Given the description of an element on the screen output the (x, y) to click on. 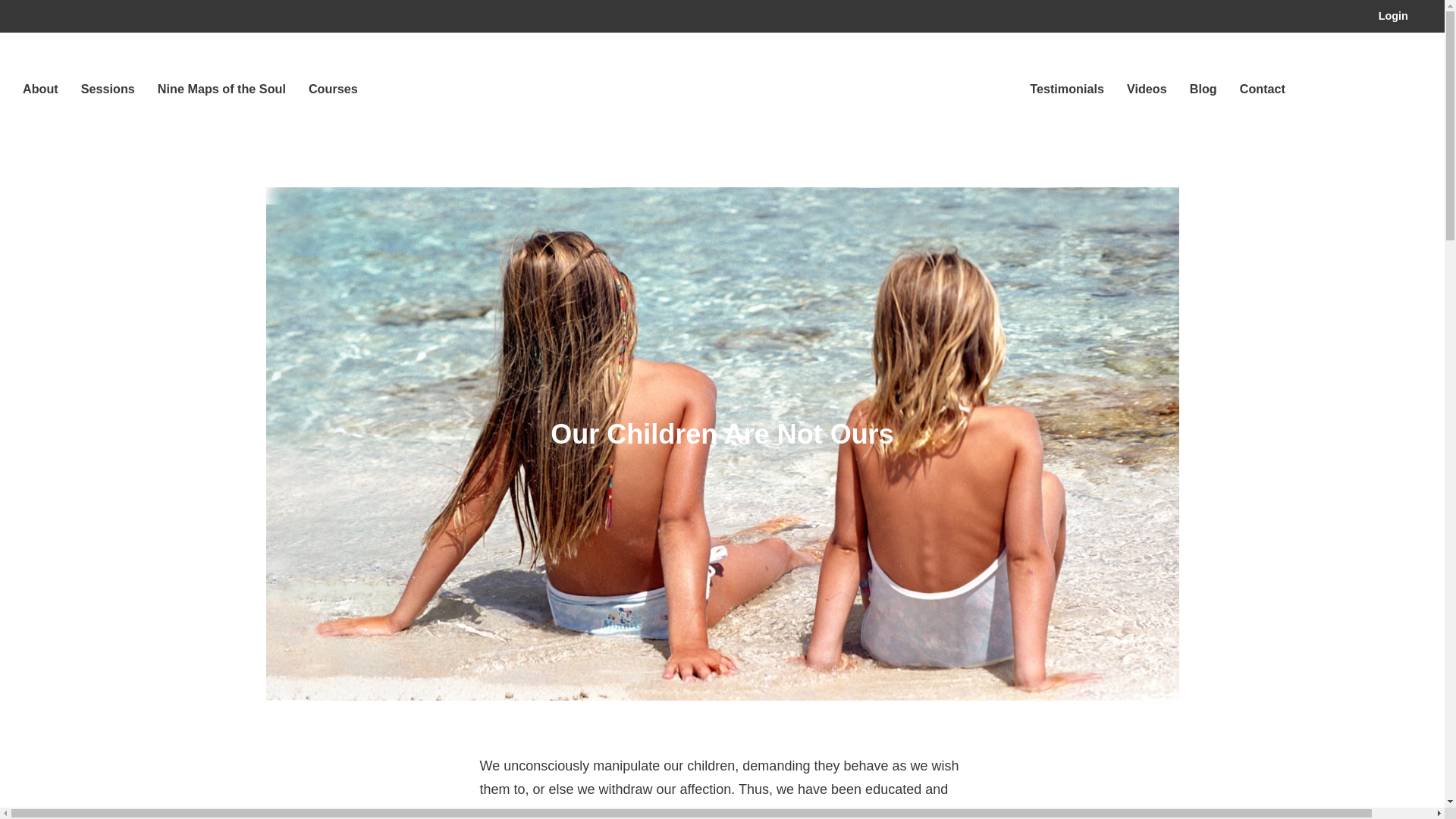
Courses (333, 88)
Login (1393, 16)
Contact (1262, 88)
Blog (1203, 88)
Testimonials (1066, 88)
Sessions (108, 88)
The Inner Bridge (721, 94)
Nine Maps of the Soul (221, 88)
About (40, 88)
Videos (1146, 88)
